Given the description of an element on the screen output the (x, y) to click on. 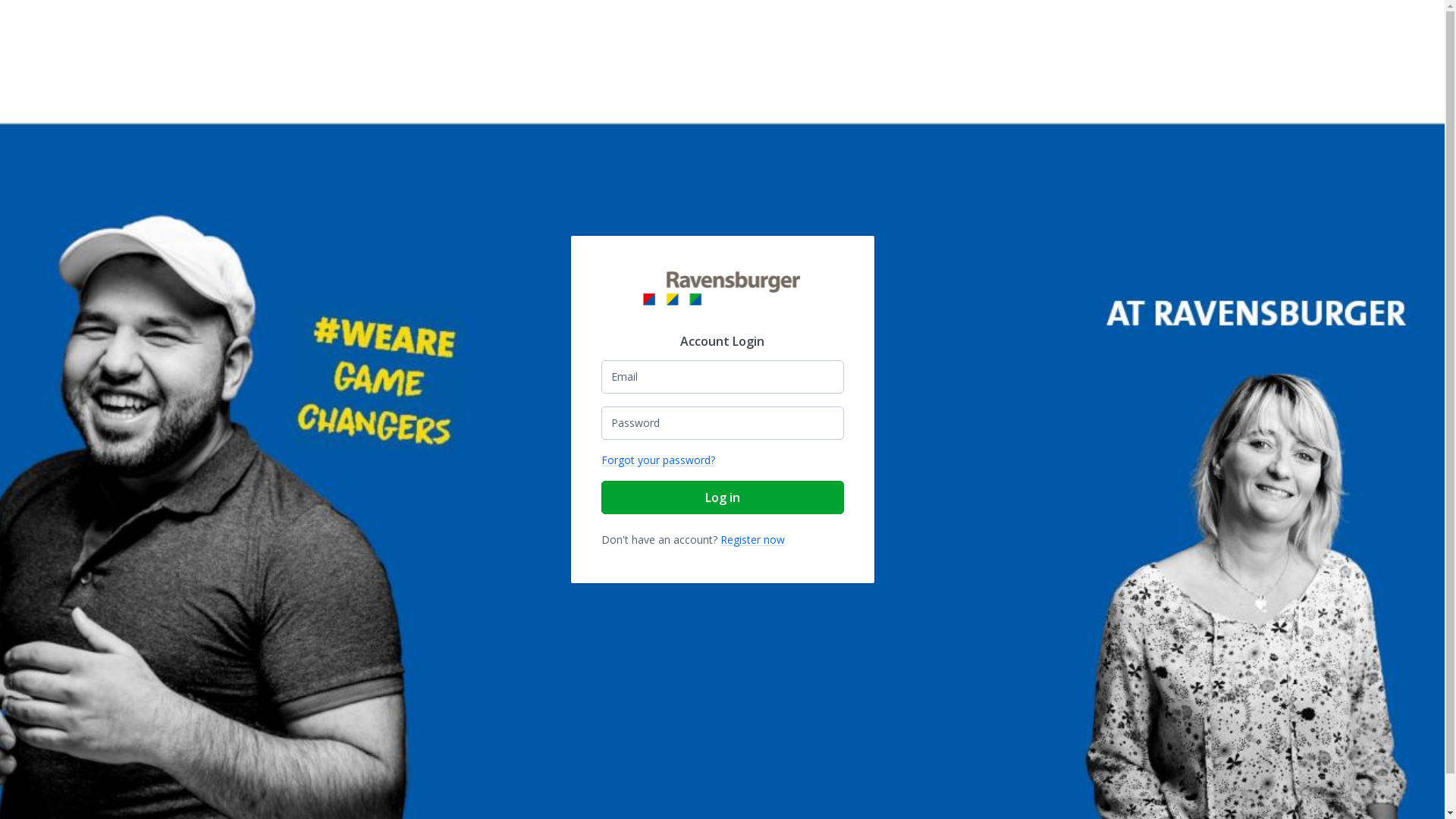
Register now Element type: text (751, 539)
Forgot your password? Element type: text (657, 459)
Log in Element type: text (721, 497)
